Given the description of an element on the screen output the (x, y) to click on. 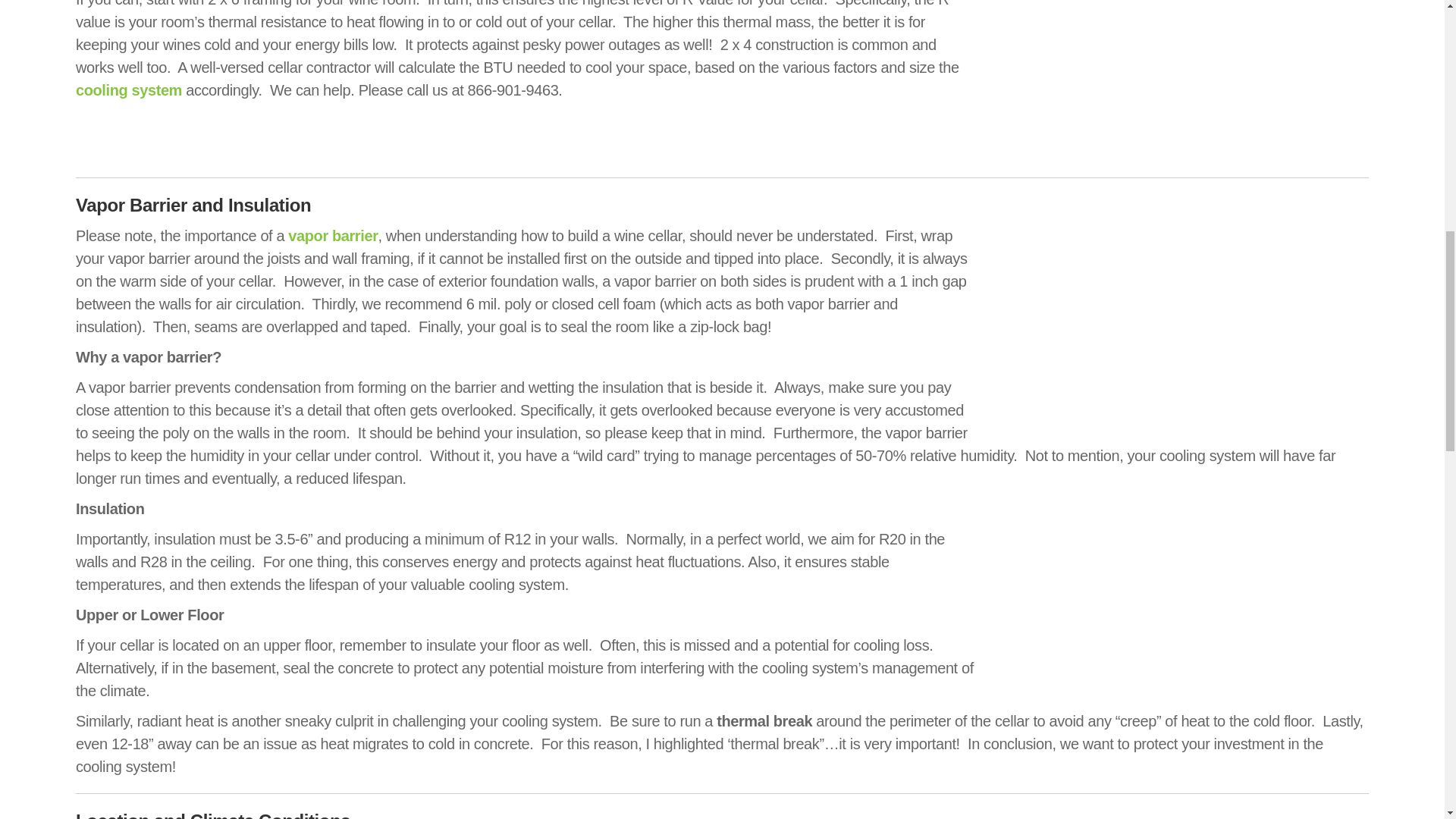
How to Build a Wine Cellar 3 (1179, 322)
How to Build a Wine Cellar 2 (1179, 81)
How to Build a Wine Cellar 4 (1179, 588)
cooling system (128, 89)
vapor barrier (332, 235)
